Given the description of an element on the screen output the (x, y) to click on. 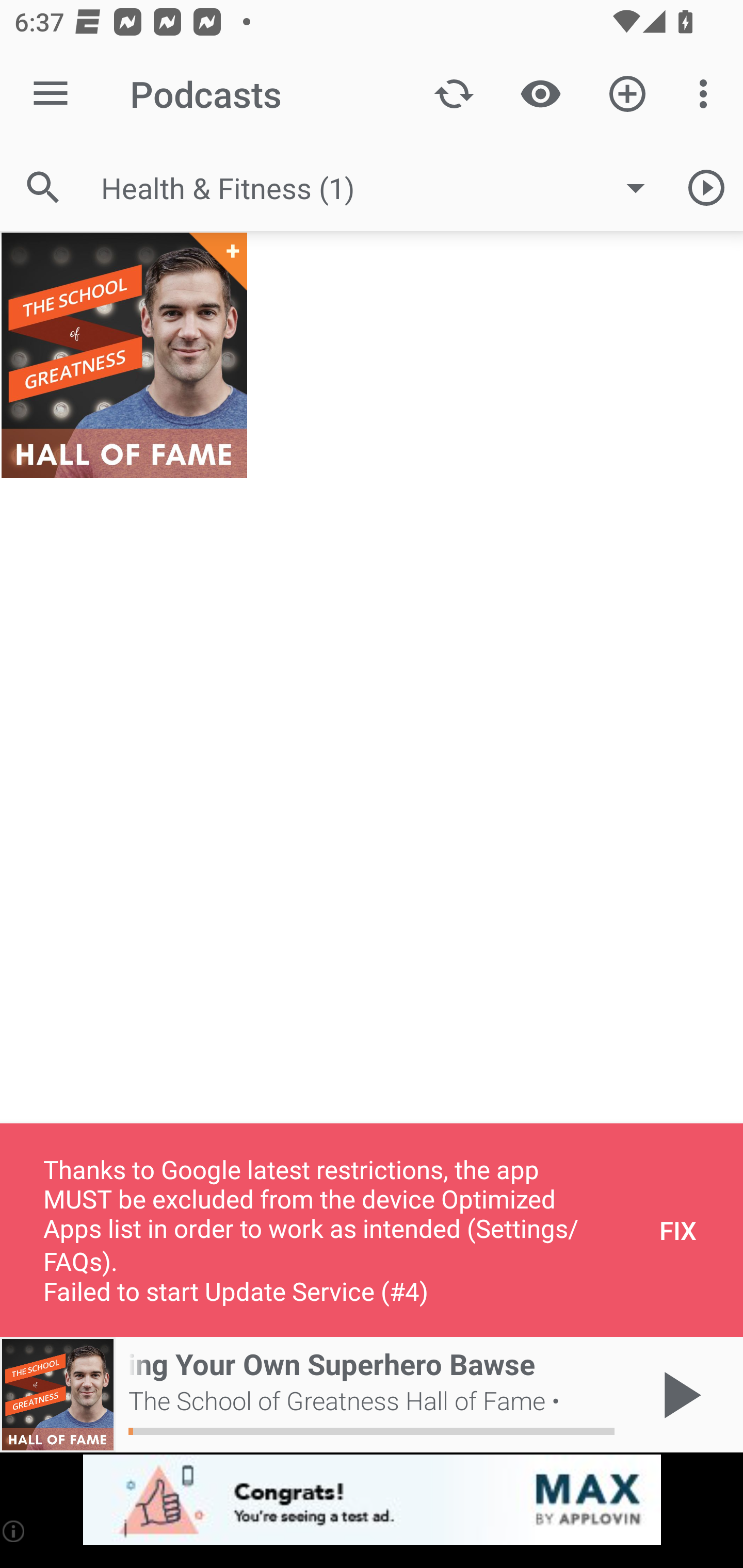
Open navigation sidebar (50, 93)
Update (453, 93)
Show / Hide played content (540, 93)
Add new Podcast (626, 93)
More options (706, 93)
Search (43, 187)
Health & Fitness (1) (382, 188)
The School of Greatness Hall of Fame + (124, 355)
FIX (677, 1229)
Play / Pause (677, 1394)
app-monetization (371, 1500)
(i) (14, 1531)
